Given the description of an element on the screen output the (x, y) to click on. 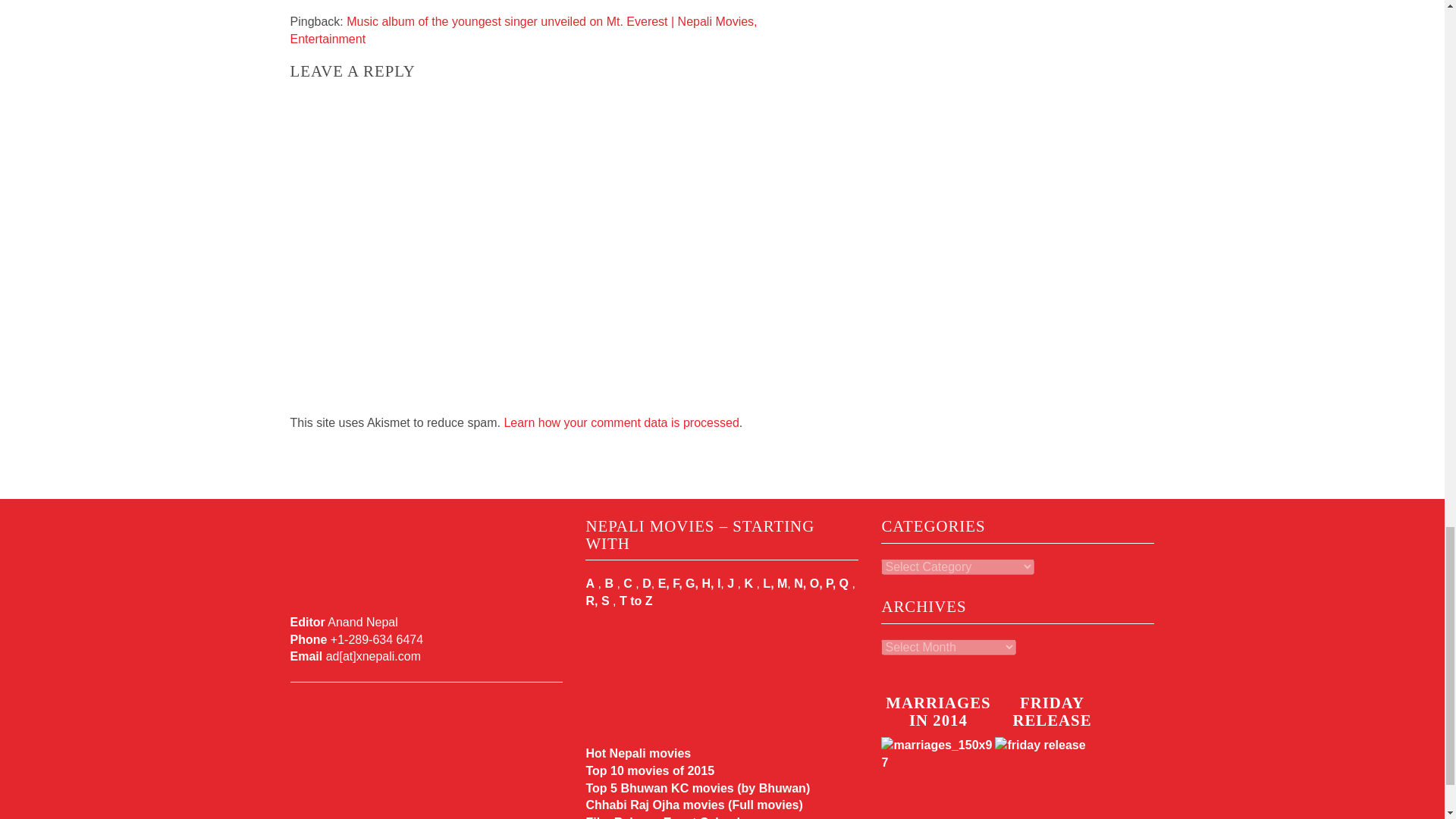
Learn how your comment data is processed (620, 422)
